Given the description of an element on the screen output the (x, y) to click on. 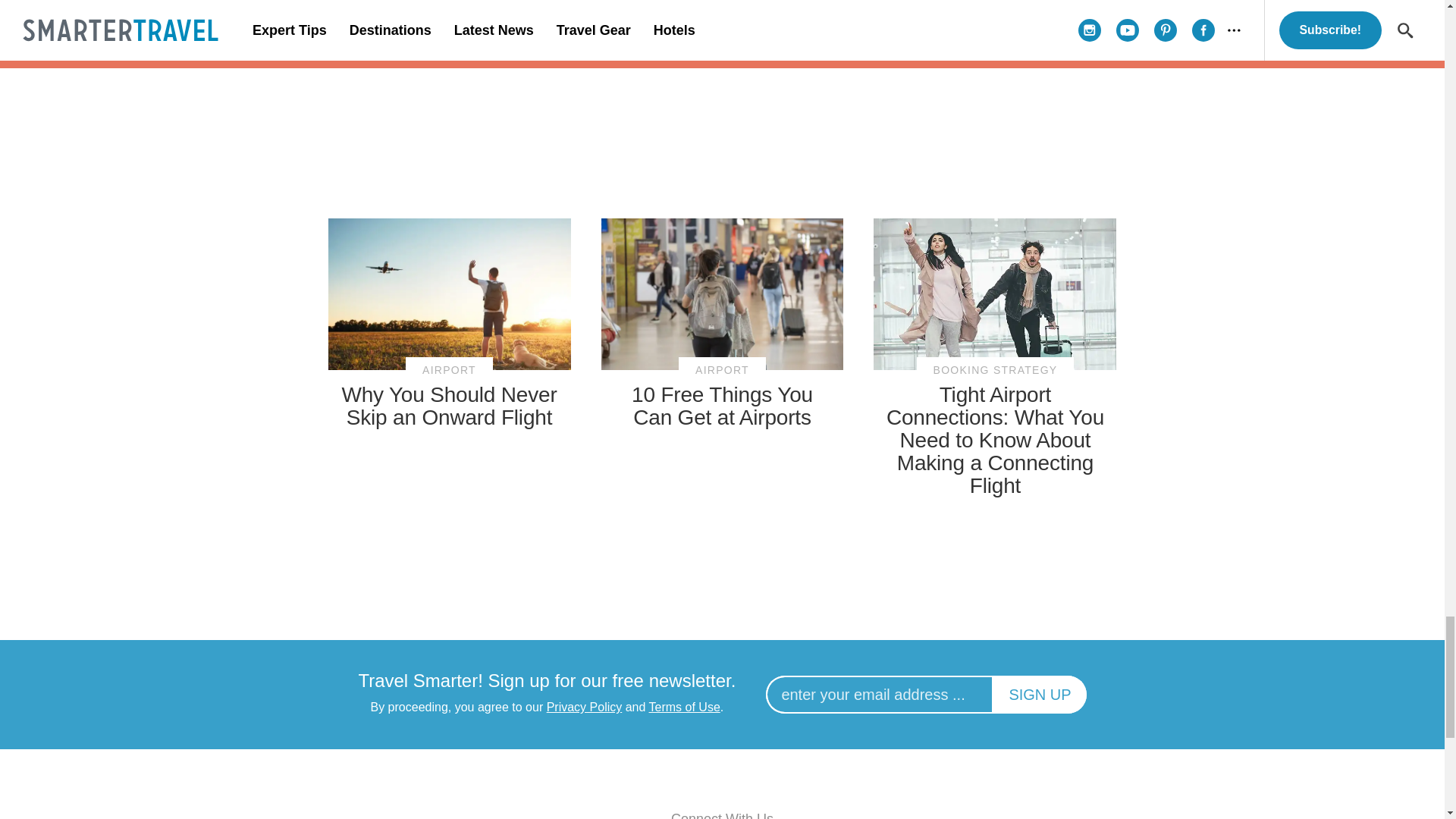
View all posts in Booking Strategy (995, 370)
View all posts in Airport (449, 370)
View all posts in Airport (721, 370)
